Given the description of an element on the screen output the (x, y) to click on. 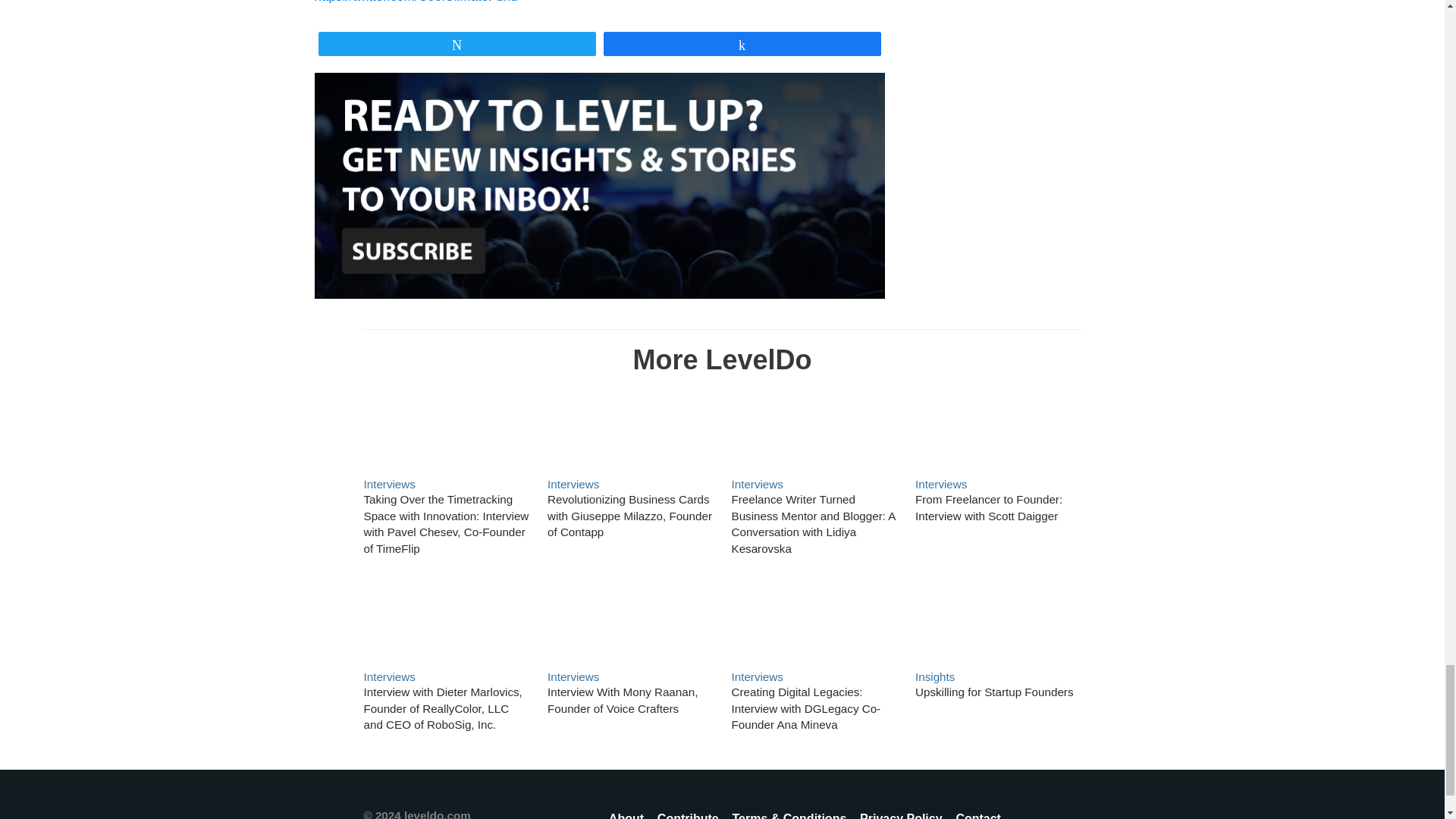
Read More (998, 428)
Read More (813, 428)
Read More in Interviews (572, 483)
Read More (630, 620)
Read More (446, 428)
Read More (446, 620)
Read More in Interviews (940, 483)
Read More (630, 428)
Read More in Interviews (389, 483)
Read More (988, 507)
Read More (629, 515)
Read More (443, 708)
Read More in Interviews (389, 676)
Read More (446, 524)
Read More (812, 524)
